Given the description of an element on the screen output the (x, y) to click on. 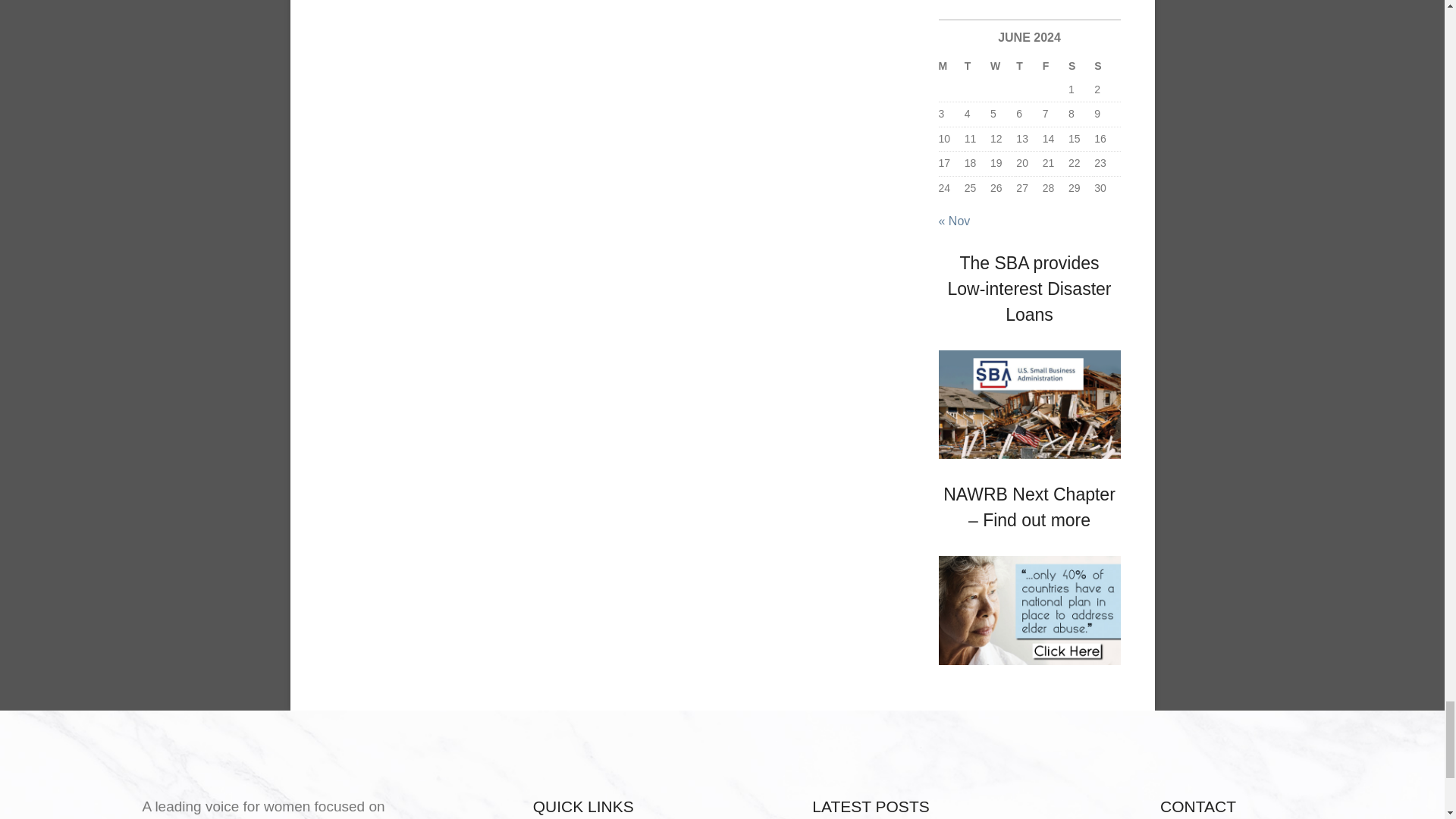
Thursday (1029, 66)
Wednesday (1003, 66)
Saturday (1081, 66)
Sunday (1106, 66)
Tuesday (976, 66)
Monday (951, 66)
Friday (1055, 66)
